Given the description of an element on the screen output the (x, y) to click on. 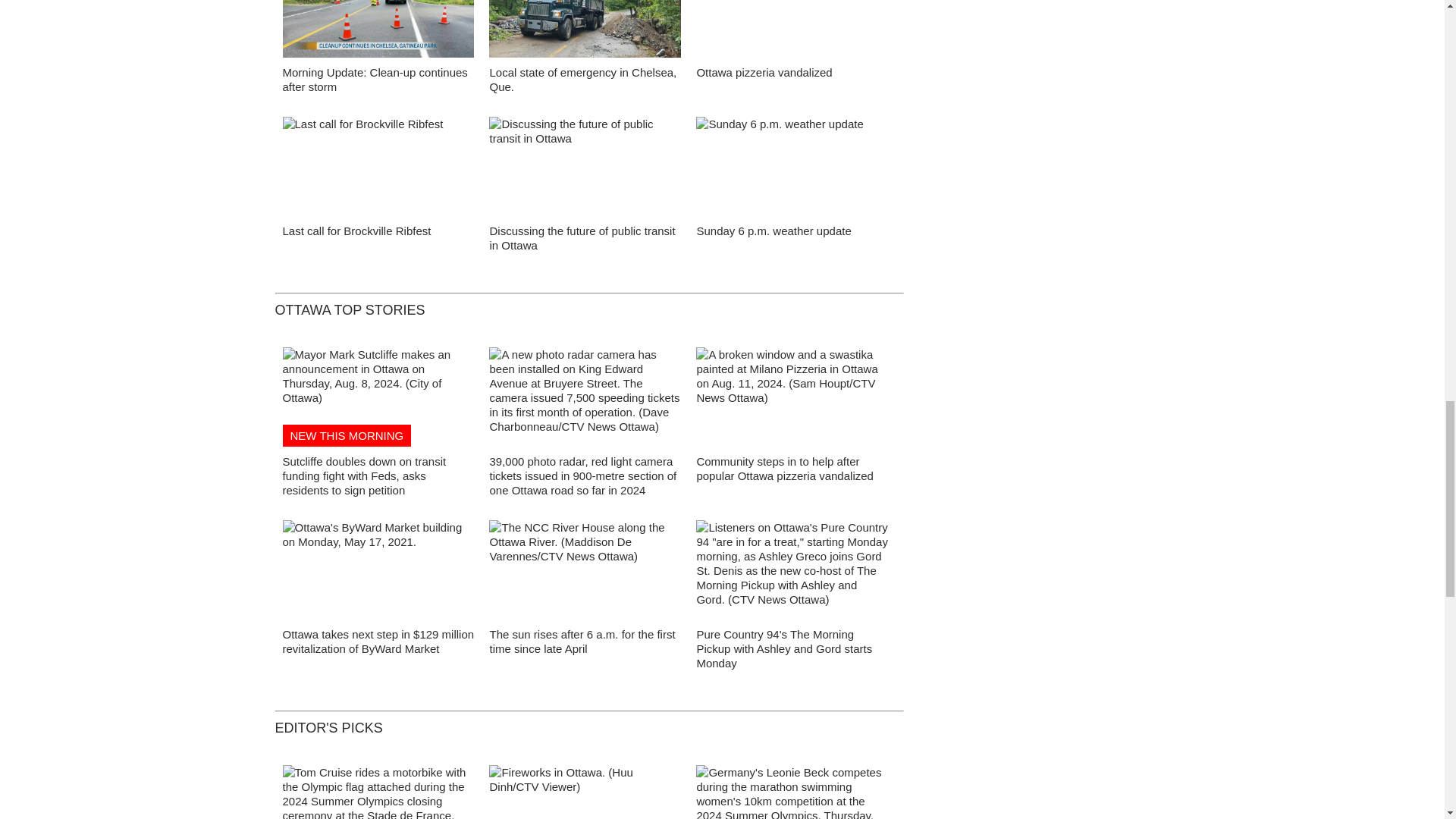
Ottawa pizzeria vandalized (763, 72)
Last call for Brockville Ribfest (356, 230)
false (585, 28)
false (378, 166)
false (585, 166)
Sunday 6 p.m. weather update (772, 230)
Local state of emergency in Chelsea, Que. (583, 79)
Morning Update: Clean-up continues after storm (374, 79)
false (378, 28)
